Given the description of an element on the screen output the (x, y) to click on. 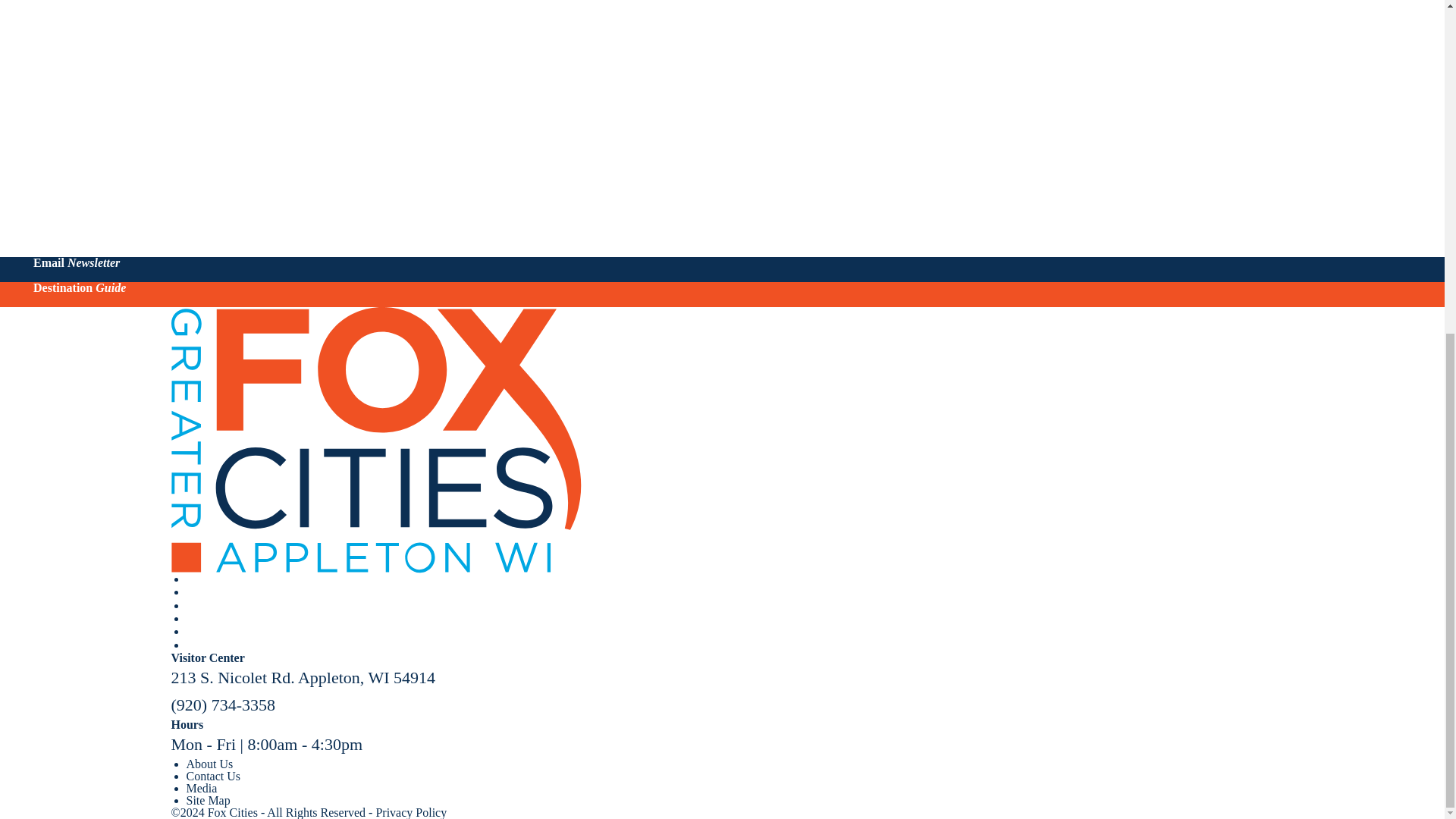
About Us (209, 763)
Site Map (208, 799)
Contact Us (213, 775)
Media (201, 788)
